Given the description of an element on the screen output the (x, y) to click on. 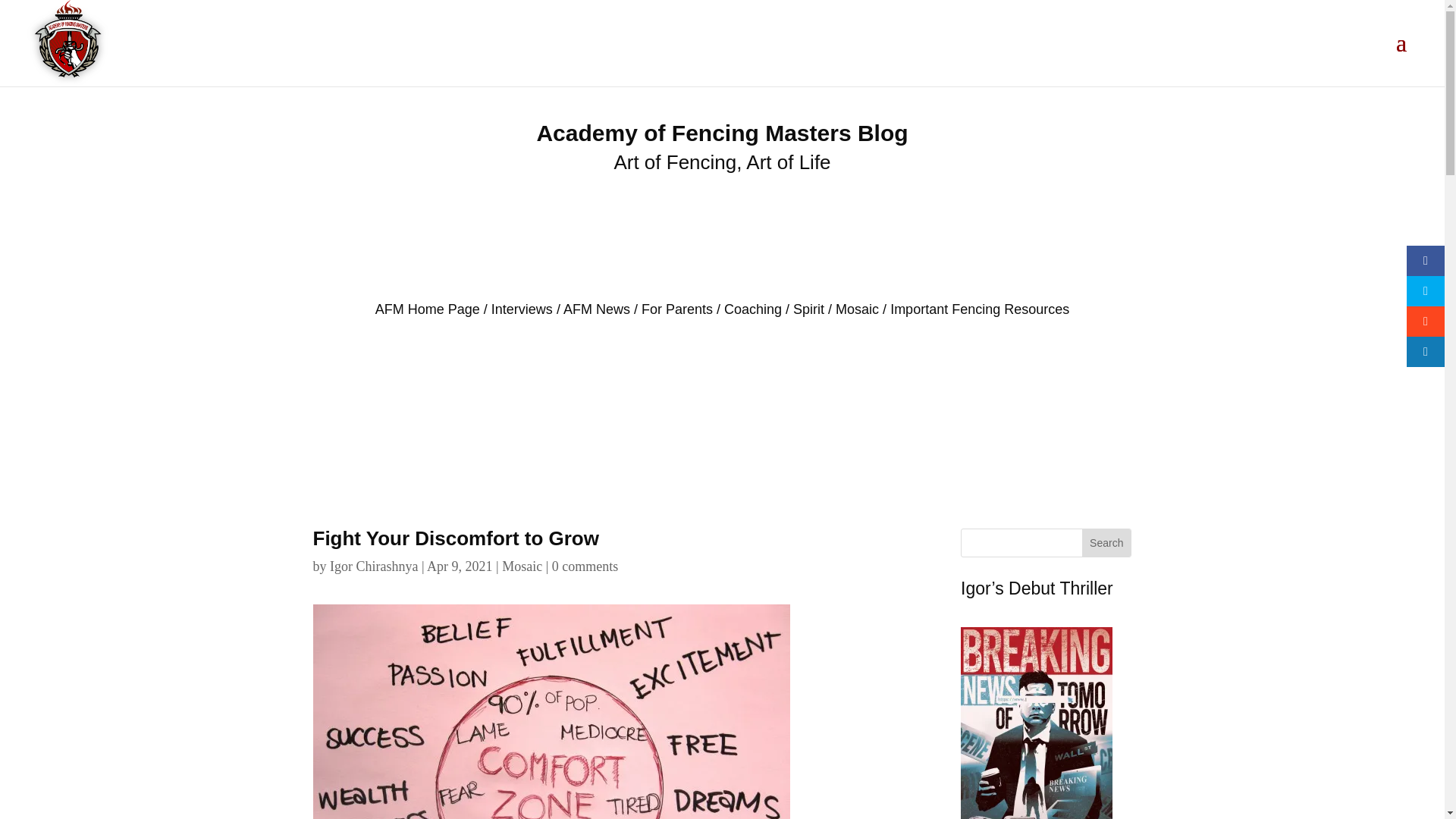
Search (1106, 542)
Mosaic (857, 309)
Interviews (522, 309)
Search (1106, 542)
Academy of Fencing Masters Blog (721, 132)
Mosaic (521, 566)
For Parents (677, 309)
Search (1106, 542)
AFM Home Page (427, 309)
Spirit (808, 309)
